Given the description of an element on the screen output the (x, y) to click on. 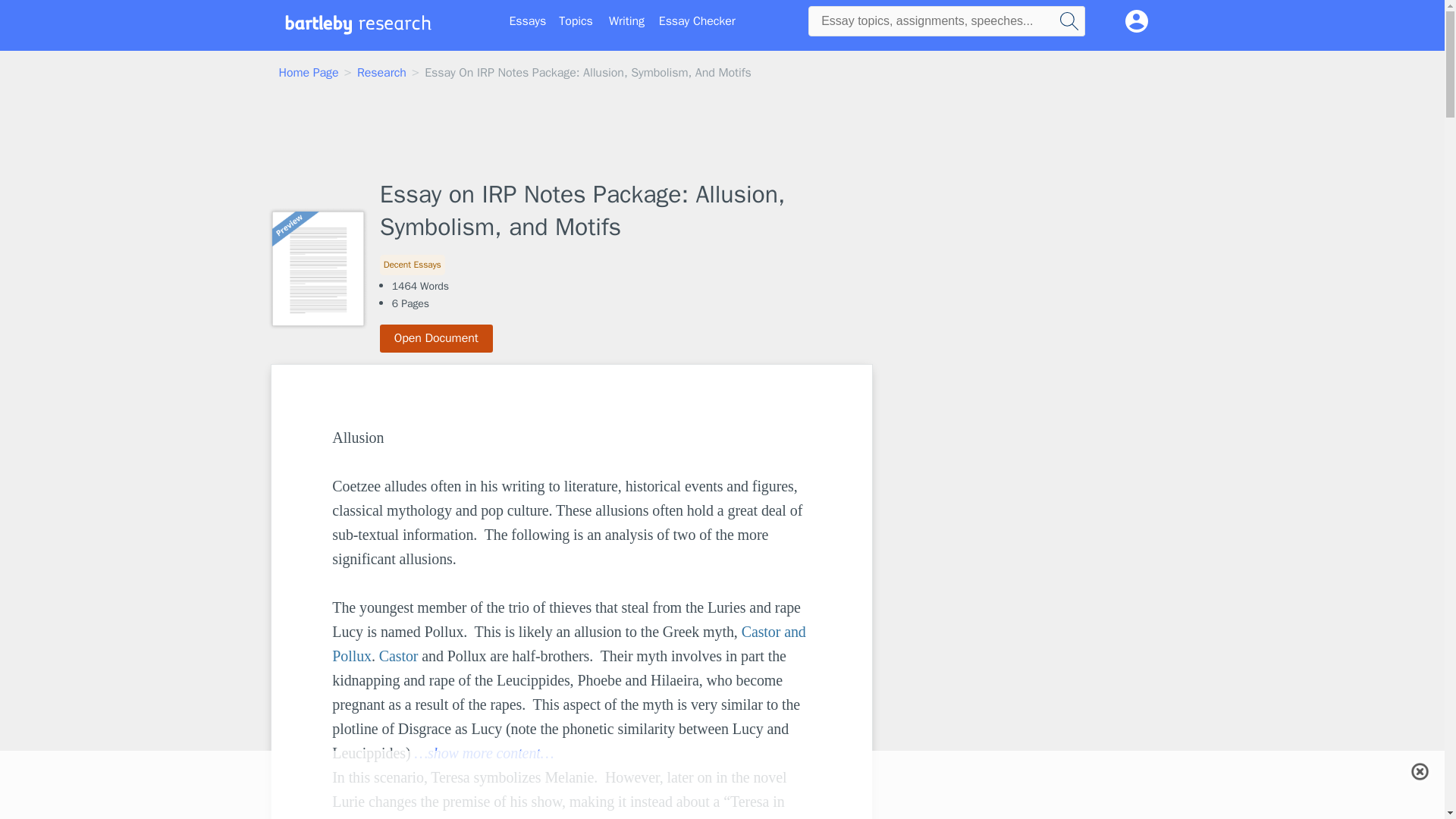
Writing (626, 20)
Home Page (309, 72)
Essays (528, 20)
3rd party ad content (721, 131)
3rd party ad content (997, 672)
3rd party ad content (721, 769)
Research (381, 72)
Topics (575, 20)
Castor and Pollux (570, 643)
3rd party ad content (997, 458)
Essay Checker (697, 20)
Open Document (436, 338)
Castor (398, 655)
